Given the description of an element on the screen output the (x, y) to click on. 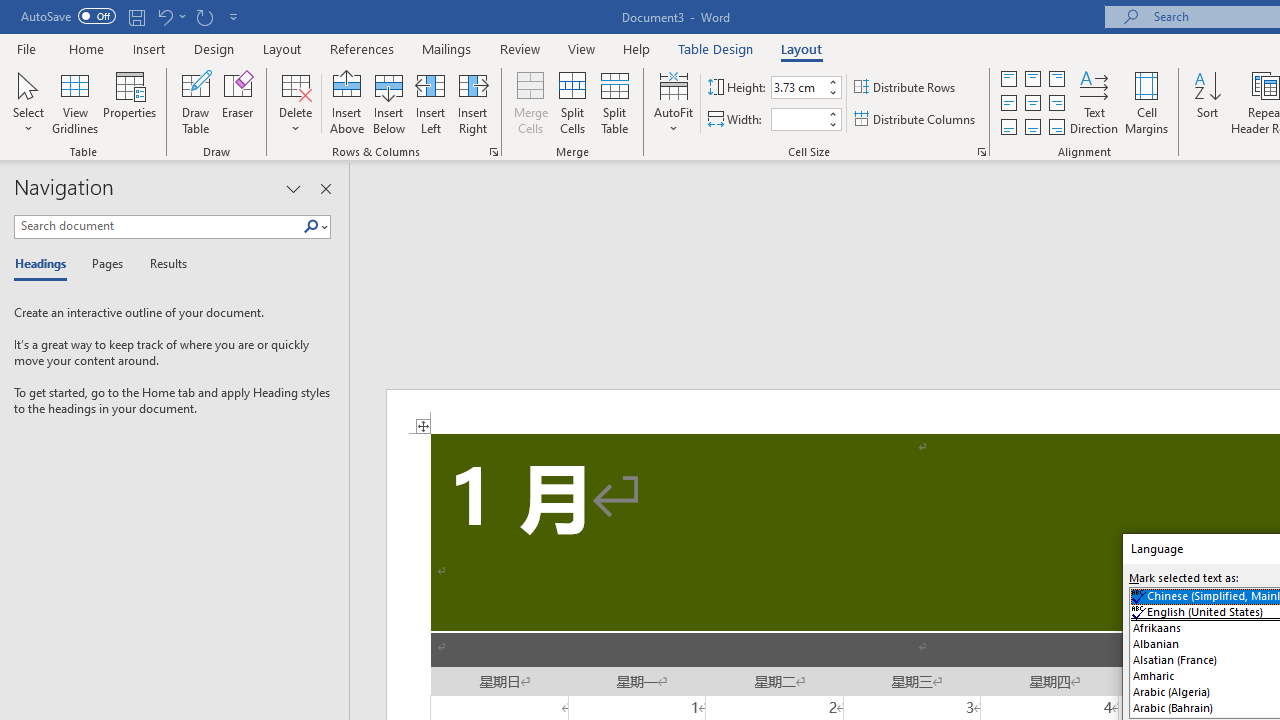
Align Center Right (1056, 103)
Search (315, 227)
Repeat Doc Close (204, 15)
Cell Margins... (1146, 102)
Undo Increase Indent (170, 15)
View (582, 48)
Help (637, 48)
Split Cells... (572, 102)
Customize Quick Access Toolbar (234, 15)
Merge Cells (530, 102)
Text Direction (1094, 102)
Split Table (614, 102)
Less (832, 124)
Draw Table (196, 102)
